Given the description of an element on the screen output the (x, y) to click on. 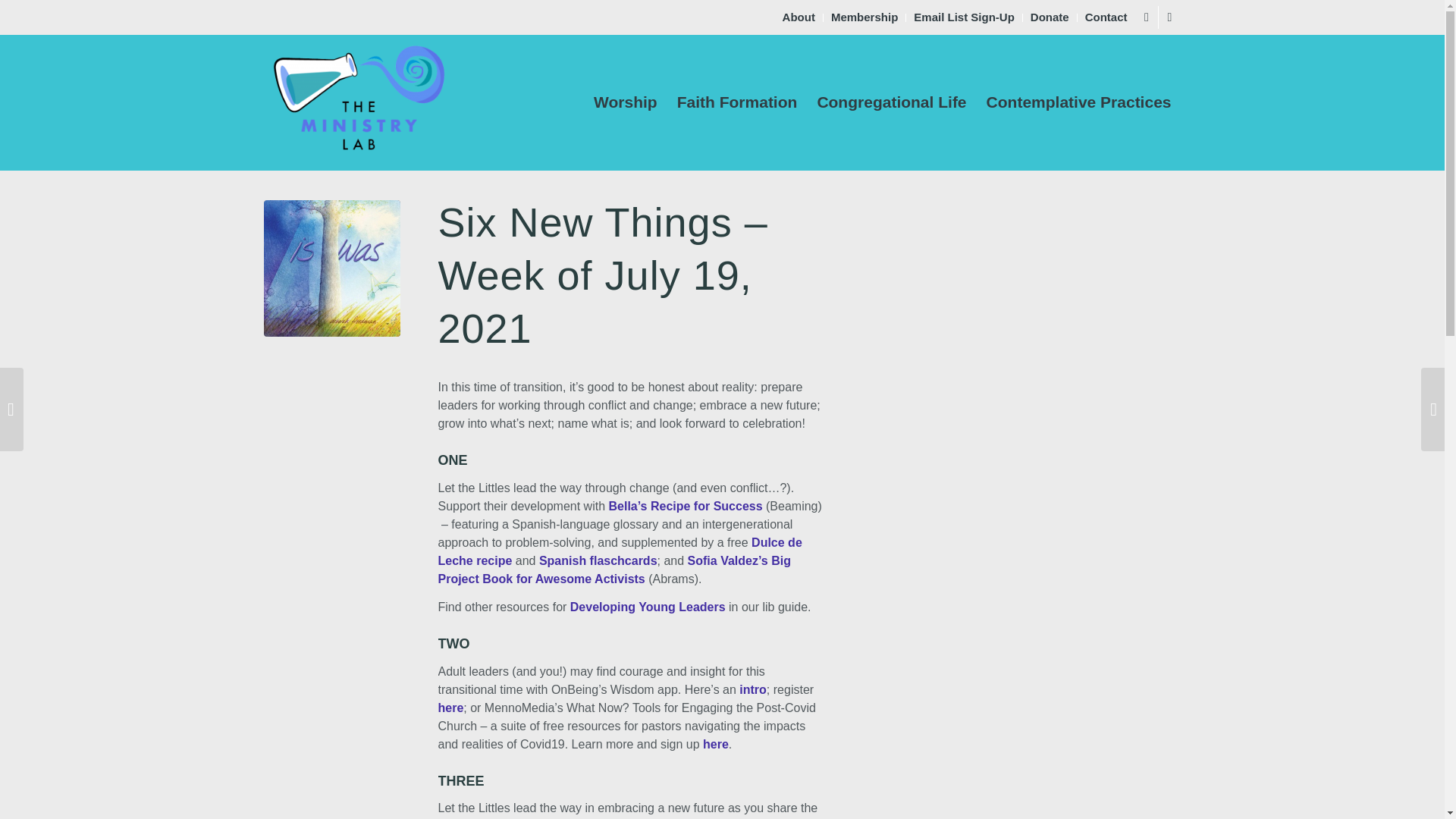
Contact (1105, 16)
Membership (864, 16)
here (451, 707)
Mail (1169, 16)
Dulce de Leche recipe (620, 551)
Contemplative Practices (1078, 102)
About (799, 16)
Congregational Life (890, 102)
Spanish flaschcards (598, 560)
here (716, 744)
